Given the description of an element on the screen output the (x, y) to click on. 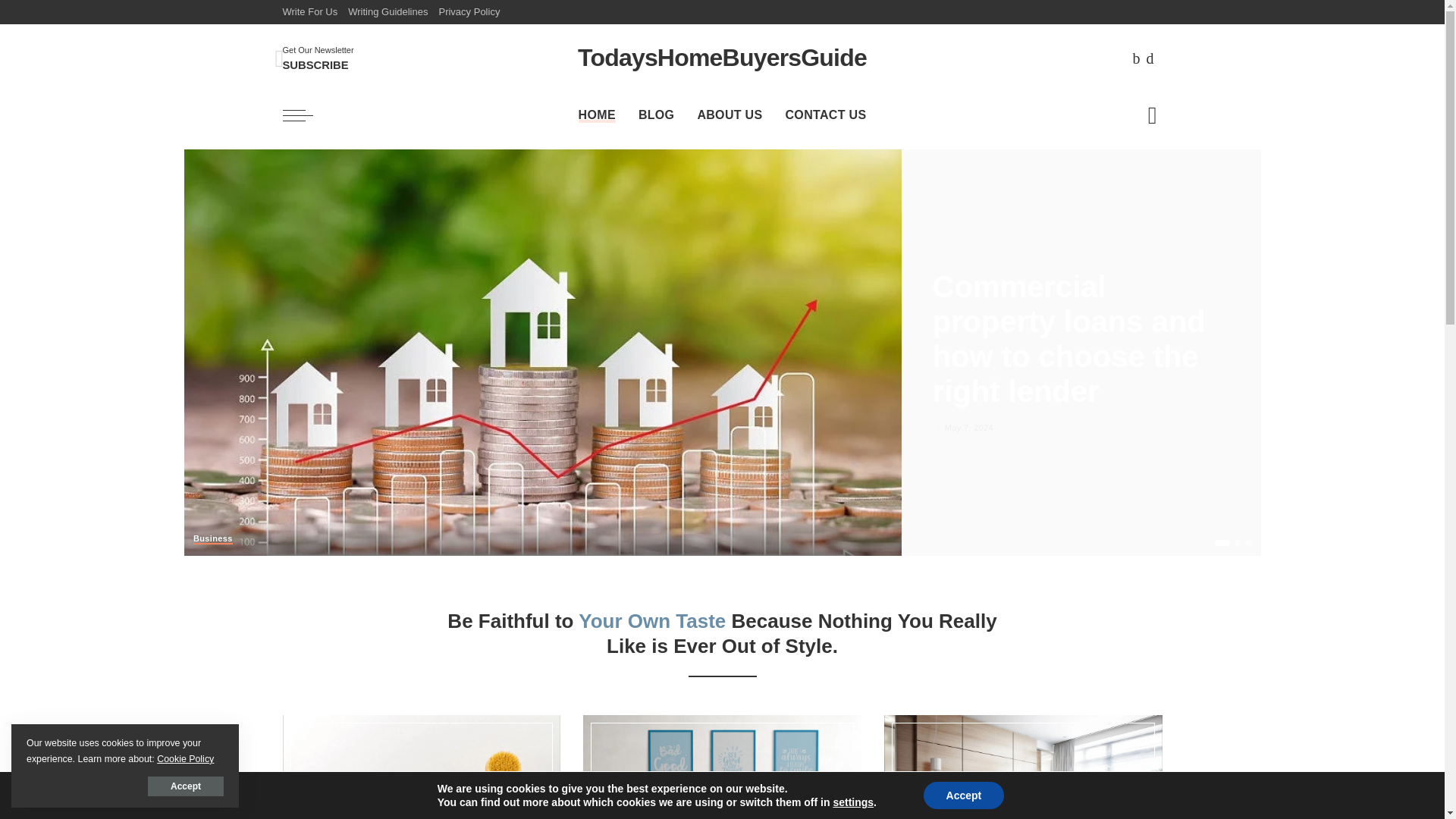
HOME (597, 115)
TodaysHomeBuyersGuide (722, 57)
TodaysHomeBuyersGuide (722, 57)
BLOG (656, 115)
ABOUT US (729, 115)
Search (1140, 169)
Search (1140, 30)
Privacy Policy (468, 11)
CONTACT US (825, 115)
Writing Guidelines (387, 11)
Write For Us (317, 58)
